Given the description of an element on the screen output the (x, y) to click on. 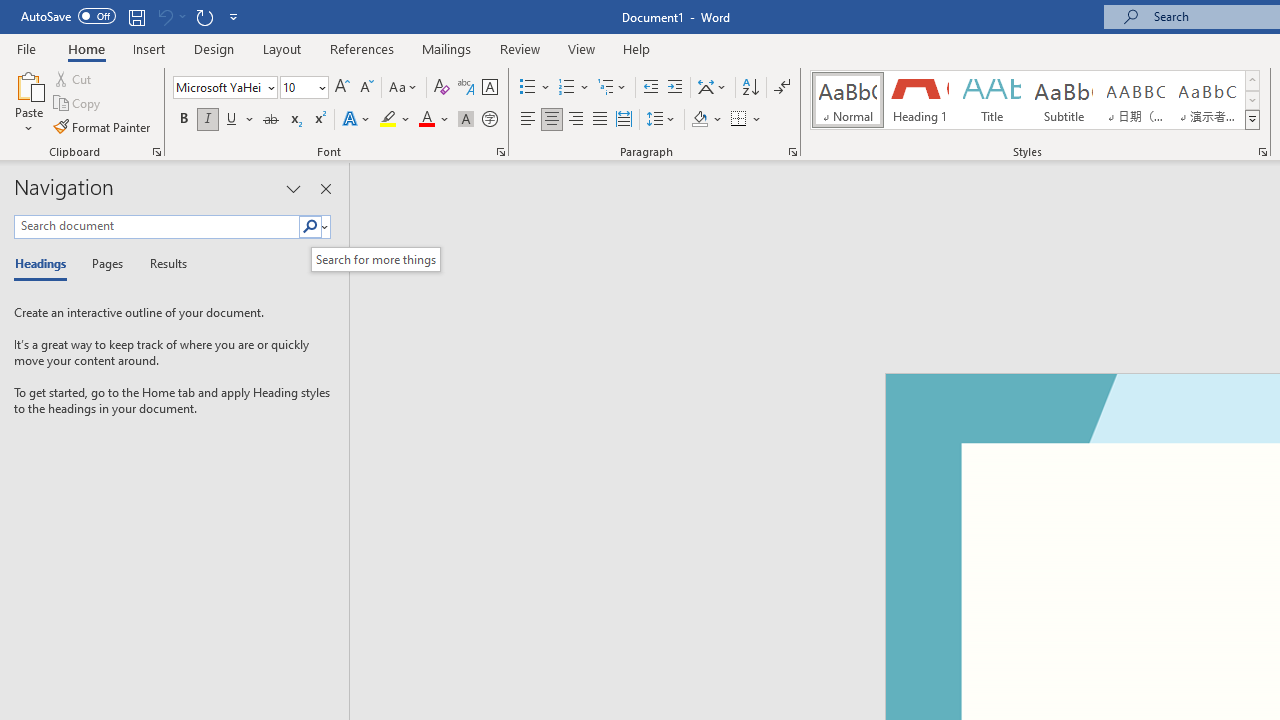
Can't Undo (170, 15)
Font Color Red (426, 119)
